Given the description of an element on the screen output the (x, y) to click on. 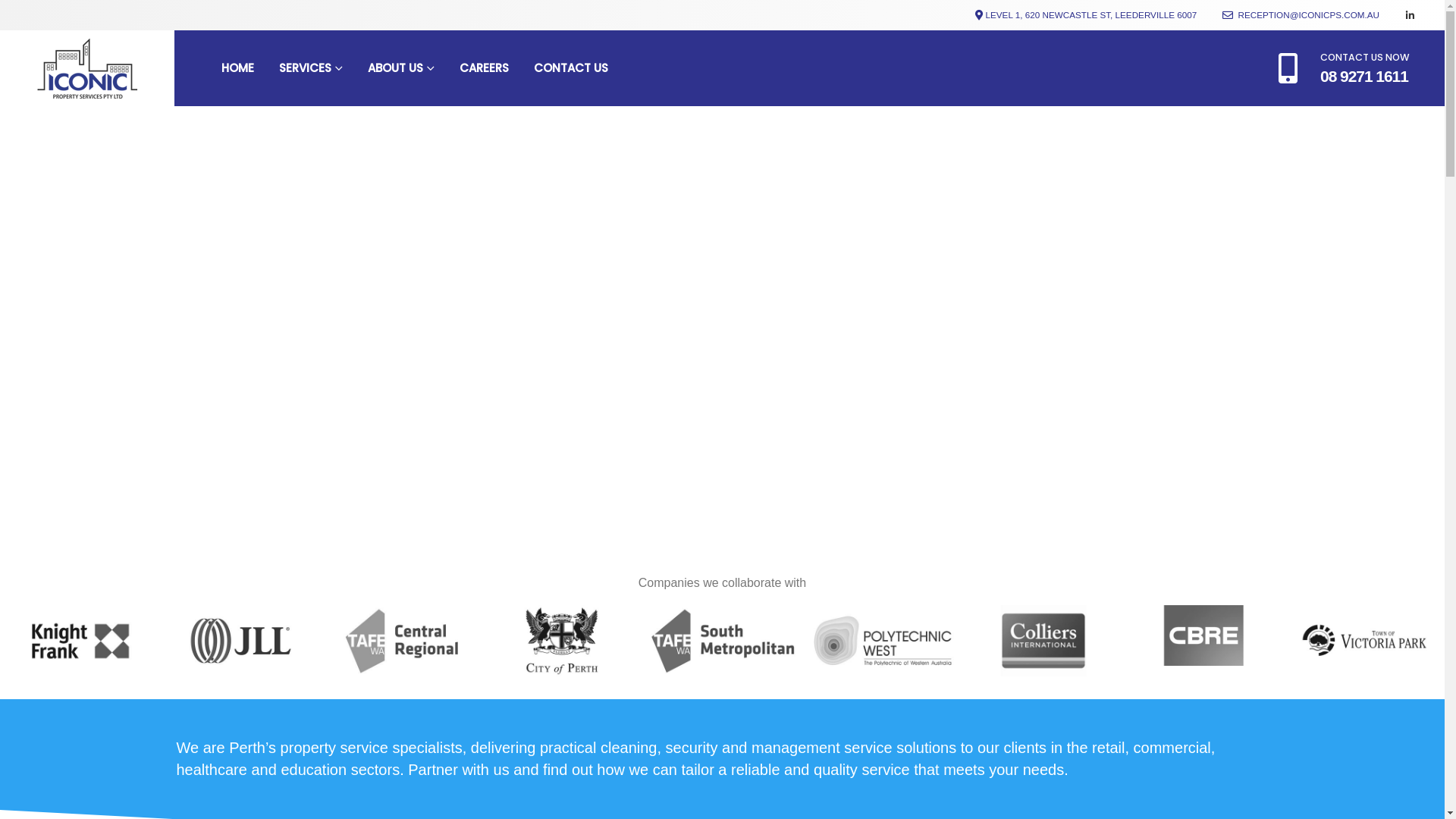
CAREERS Element type: text (483, 68)
partner-logos-tafe Element type: hover (722, 640)
CONTACT US NOW
08 9271 1611 Element type: text (1343, 67)
RECEPTION@ICONICPS.COM.AU Element type: text (1300, 14)
CONTACT US Element type: text (570, 68)
HOME Element type: text (237, 68)
colliers_logo_1 Element type: hover (1043, 640)
SERVICES Element type: text (310, 68)
town-of-victoria-park-1 Element type: hover (1363, 640)
ABOUT US Element type: text (400, 68)
CBRE_Logo_4-1 Element type: hover (1203, 635)
Knight_Frank-logo-1 Element type: hover (80, 640)
partner-logos-tafe-central Element type: hover (400, 640)
JLL-logo-1 Element type: hover (240, 640)
partner-logos-perth-7 Element type: hover (561, 640)
LinkedIn Element type: hover (1409, 14)
Polytechnic_West_logo-1 Element type: hover (882, 640)
LEVEL 1, 620 NEWCASTLE ST, LEEDERVILLE 6007 Element type: text (1091, 14)
